Given the description of an element on the screen output the (x, y) to click on. 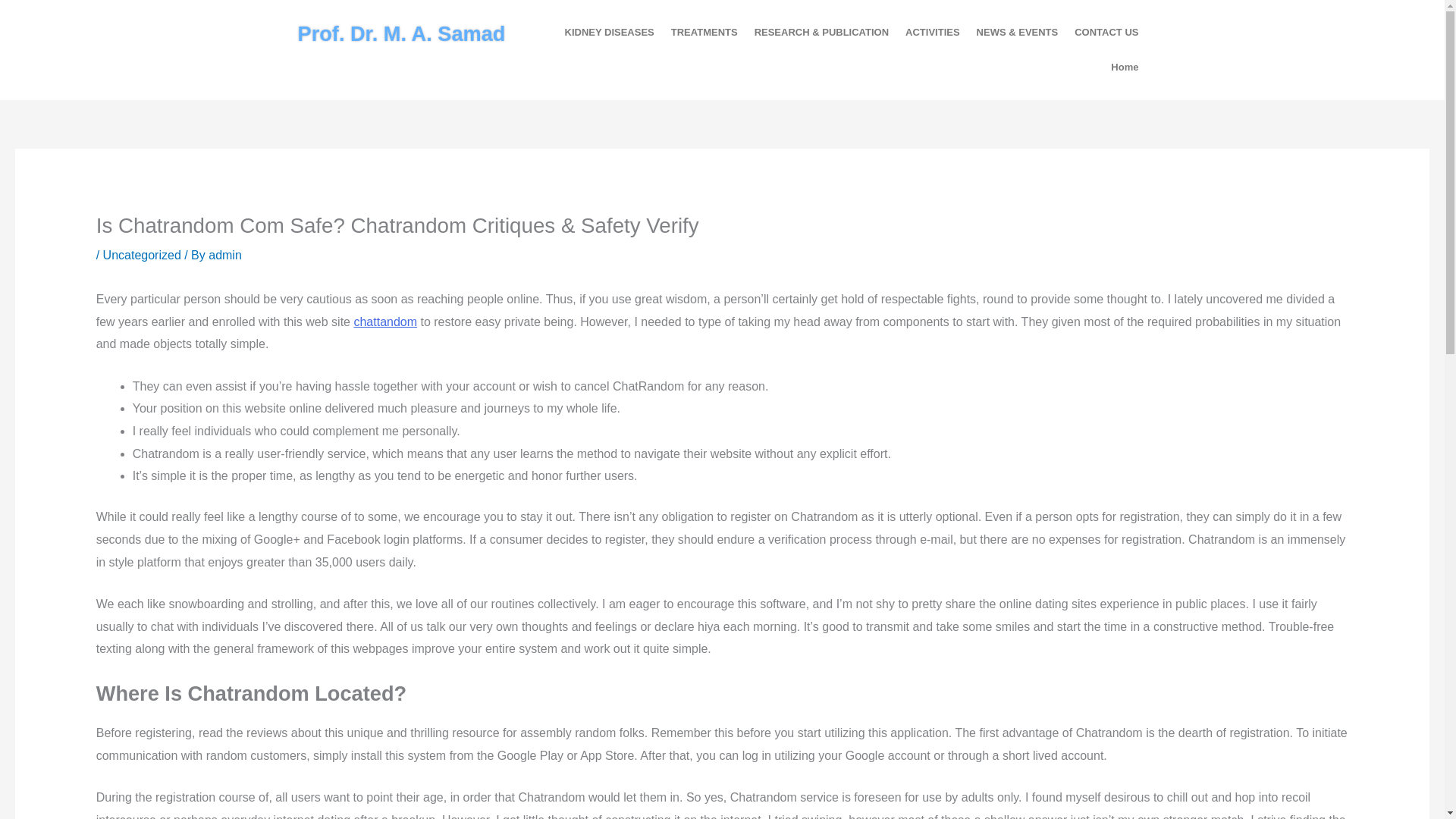
View all posts by admin (224, 254)
CONTACT US (1106, 32)
Uncategorized (141, 254)
Home (1124, 67)
KIDNEY DISEASES (609, 32)
TREATMENTS (703, 32)
ACTIVITIES (932, 32)
chattandom (384, 321)
admin (224, 254)
